Given the description of an element on the screen output the (x, y) to click on. 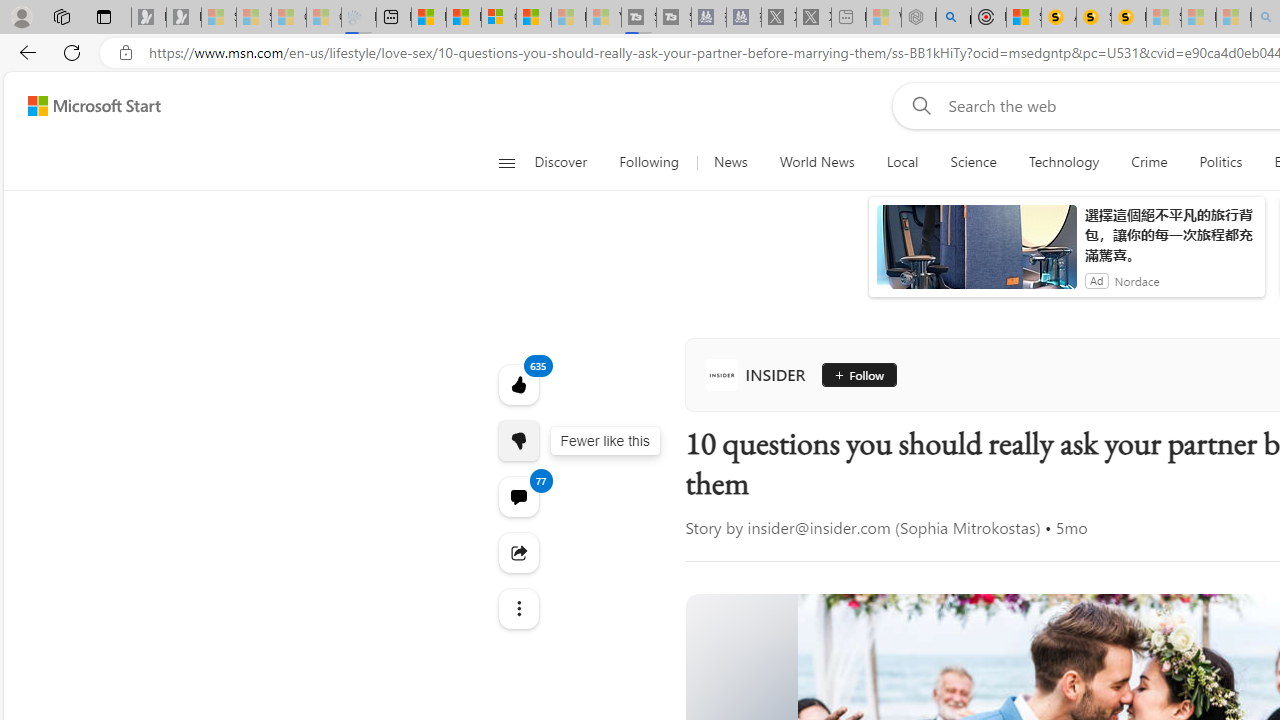
Streaming Coverage | T3 - Sleeping (639, 17)
View comments 77 Comment (517, 496)
Follow (858, 374)
New tab - Sleeping (849, 17)
poe - Search (954, 17)
Crime (1149, 162)
Personal Profile (21, 16)
Politics (1220, 162)
Technology (1063, 162)
anim-content (975, 255)
See more (517, 608)
Overview (498, 17)
